Given the description of an element on the screen output the (x, y) to click on. 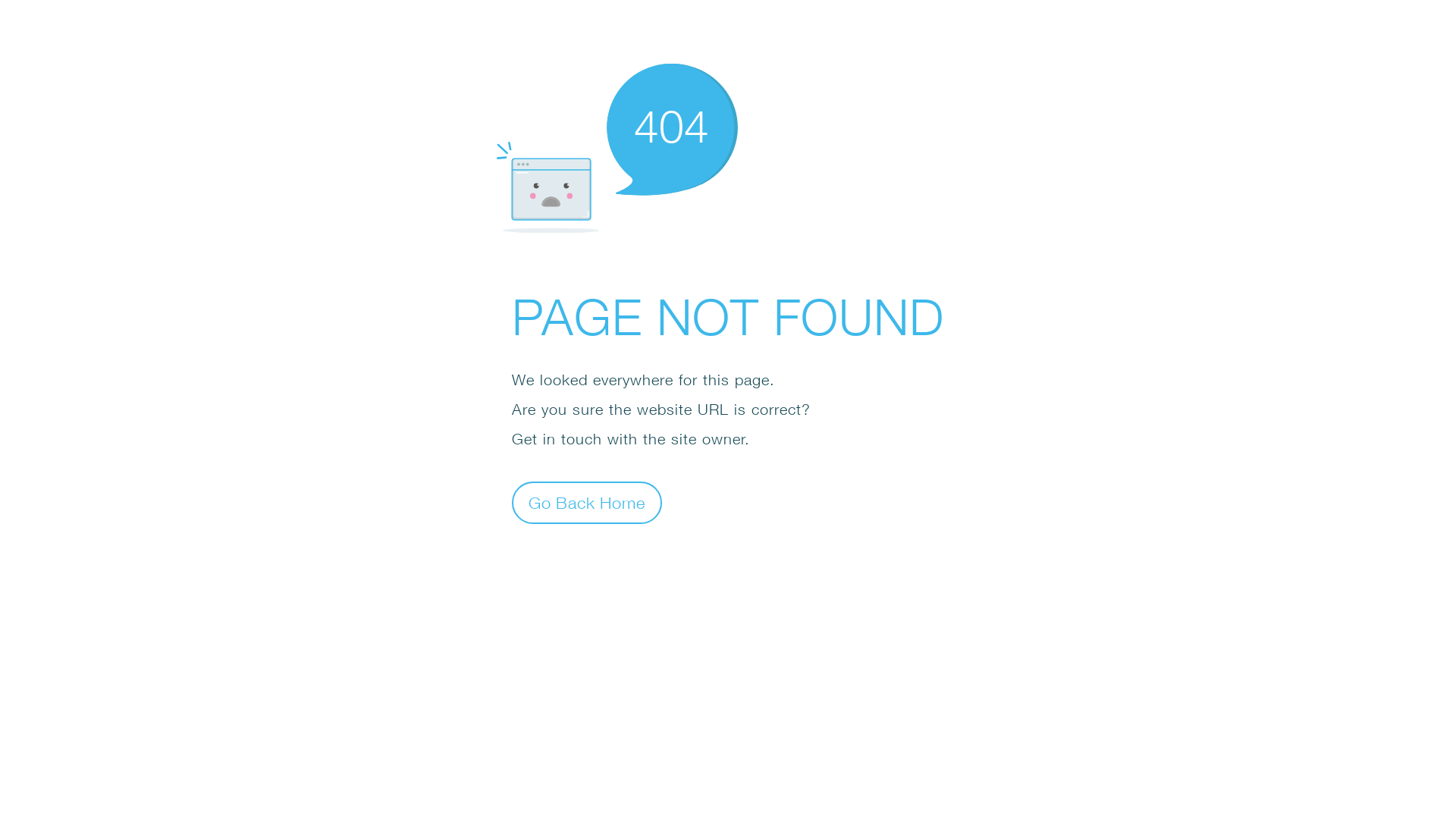
Go Back Home Element type: text (586, 502)
